Given the description of an element on the screen output the (x, y) to click on. 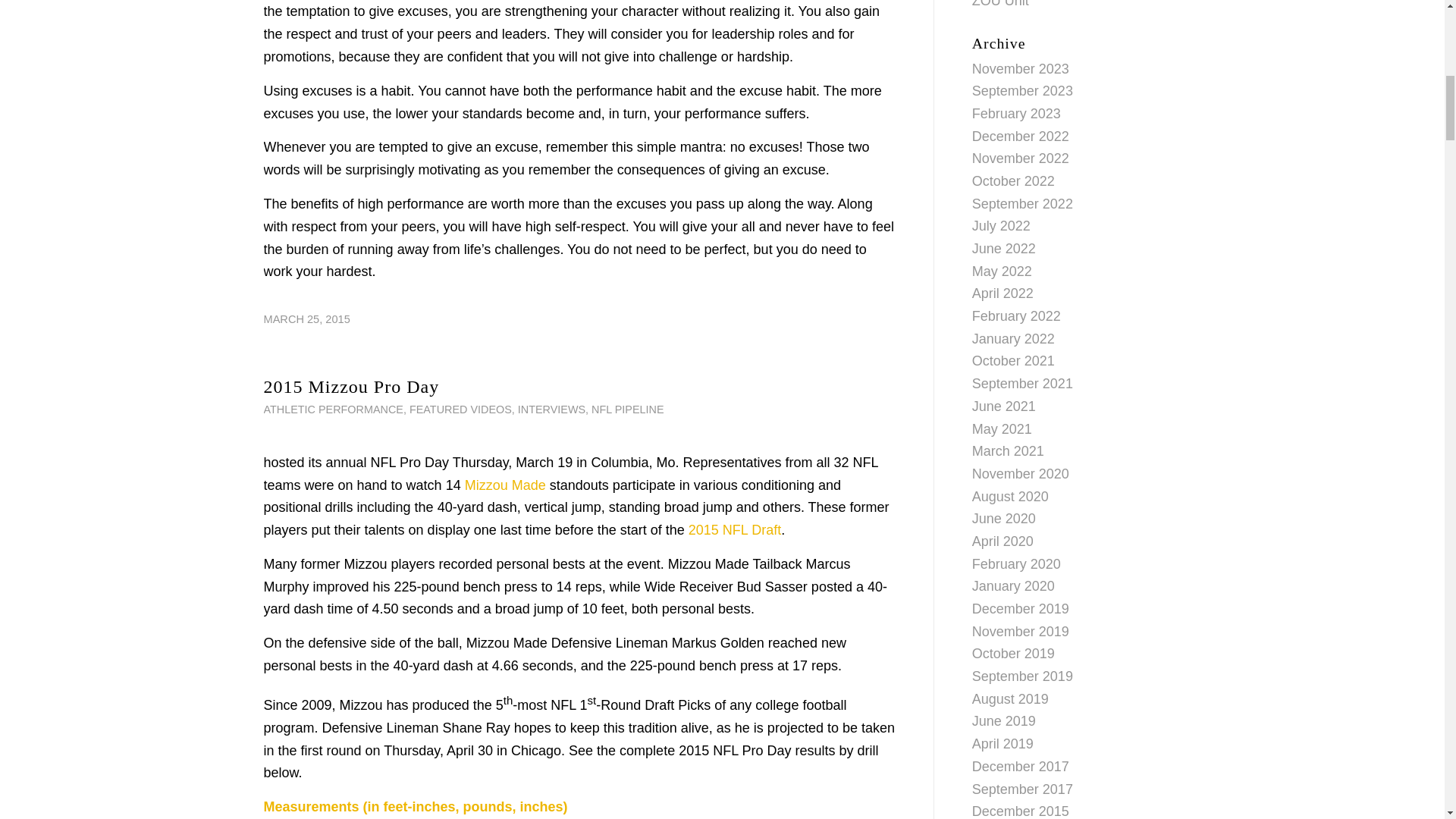
2015 NFL Draft (734, 529)
INTERVIEWS (551, 409)
2015 Mizzou Pro Day (351, 386)
FEATURED VIDEOS (460, 409)
NFL PIPELINE (627, 409)
Permanent Link: 2015 Mizzou Pro Day (351, 386)
Mizzou Made (505, 485)
ATHLETIC PERFORMANCE (333, 409)
